Given the description of an element on the screen output the (x, y) to click on. 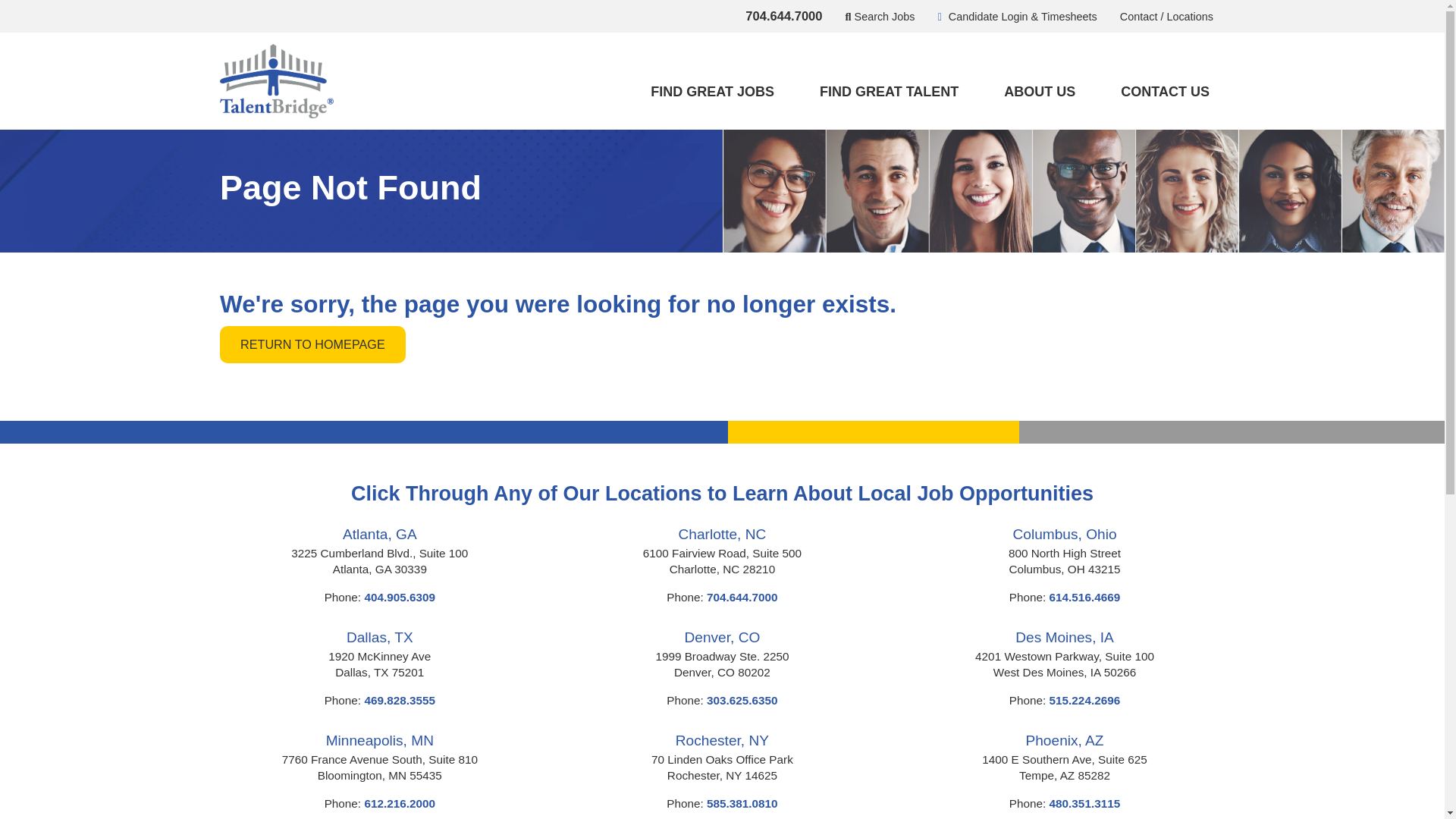
CONTACT US (1164, 91)
469.828.3555 (399, 699)
FIND GREAT JOBS (711, 91)
Denver, CO (722, 637)
704.644.7000 (741, 596)
Columbus, Ohio (1064, 534)
Minneapolis, MN (379, 740)
614.516.4669 (1085, 596)
Des Moines, IA (1063, 637)
Charlotte, NC (722, 534)
